Given the description of an element on the screen output the (x, y) to click on. 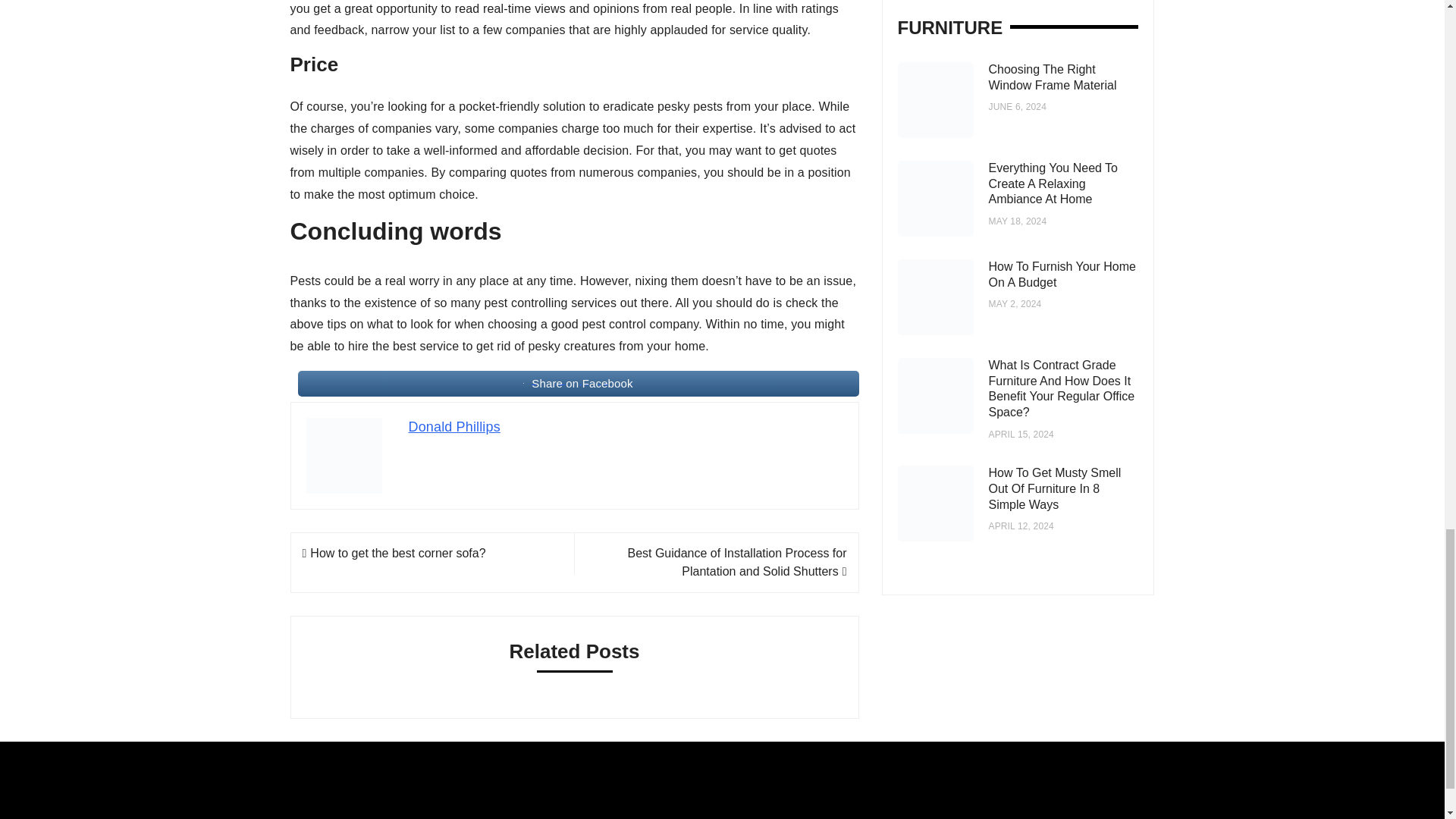
Donald Phillips (453, 426)
How to get the best corner sofa? (392, 553)
Share on Facebook (578, 383)
